Given the description of an element on the screen output the (x, y) to click on. 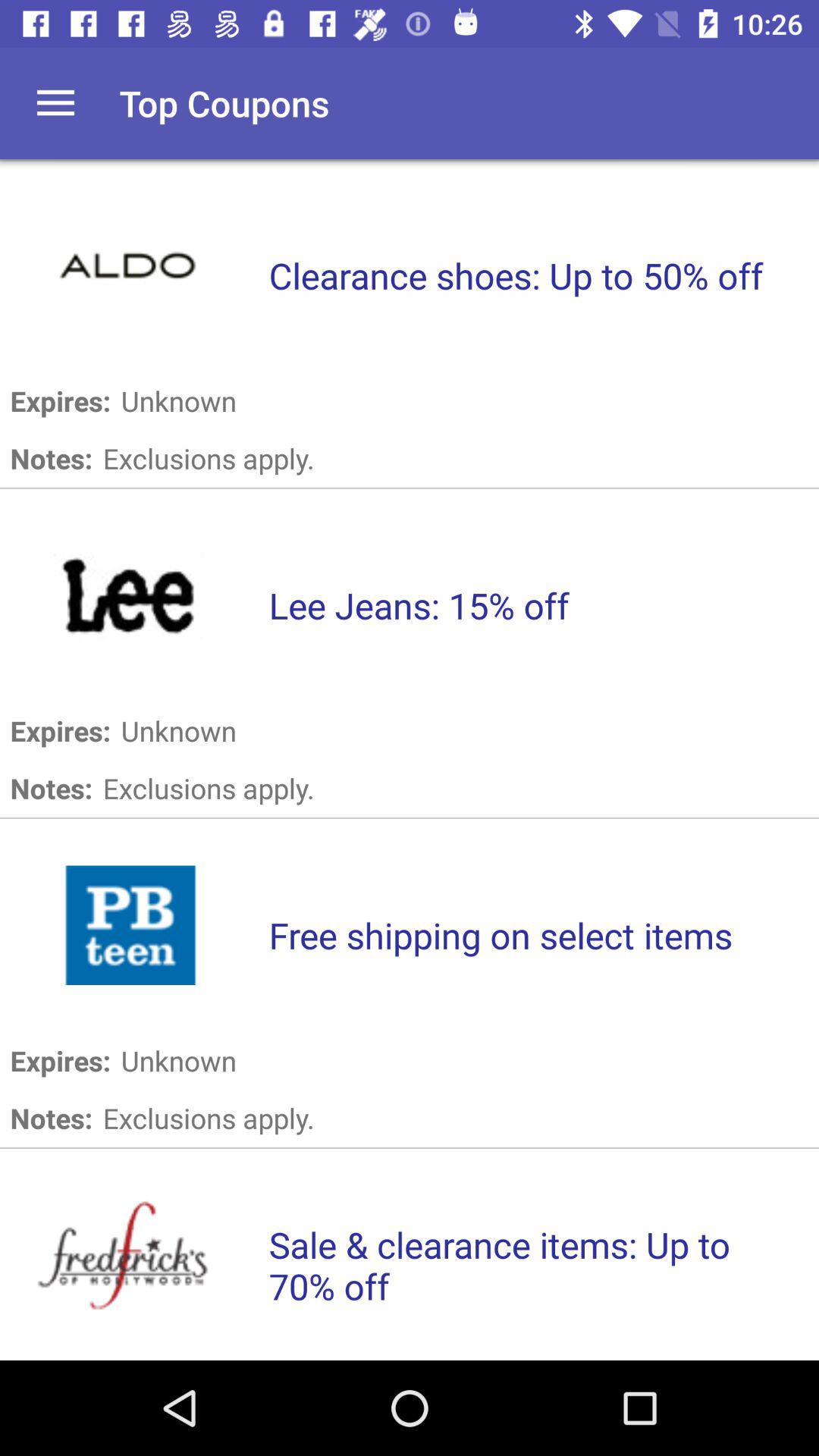
click the icon to the left of top coupons item (55, 103)
